Given the description of an element on the screen output the (x, y) to click on. 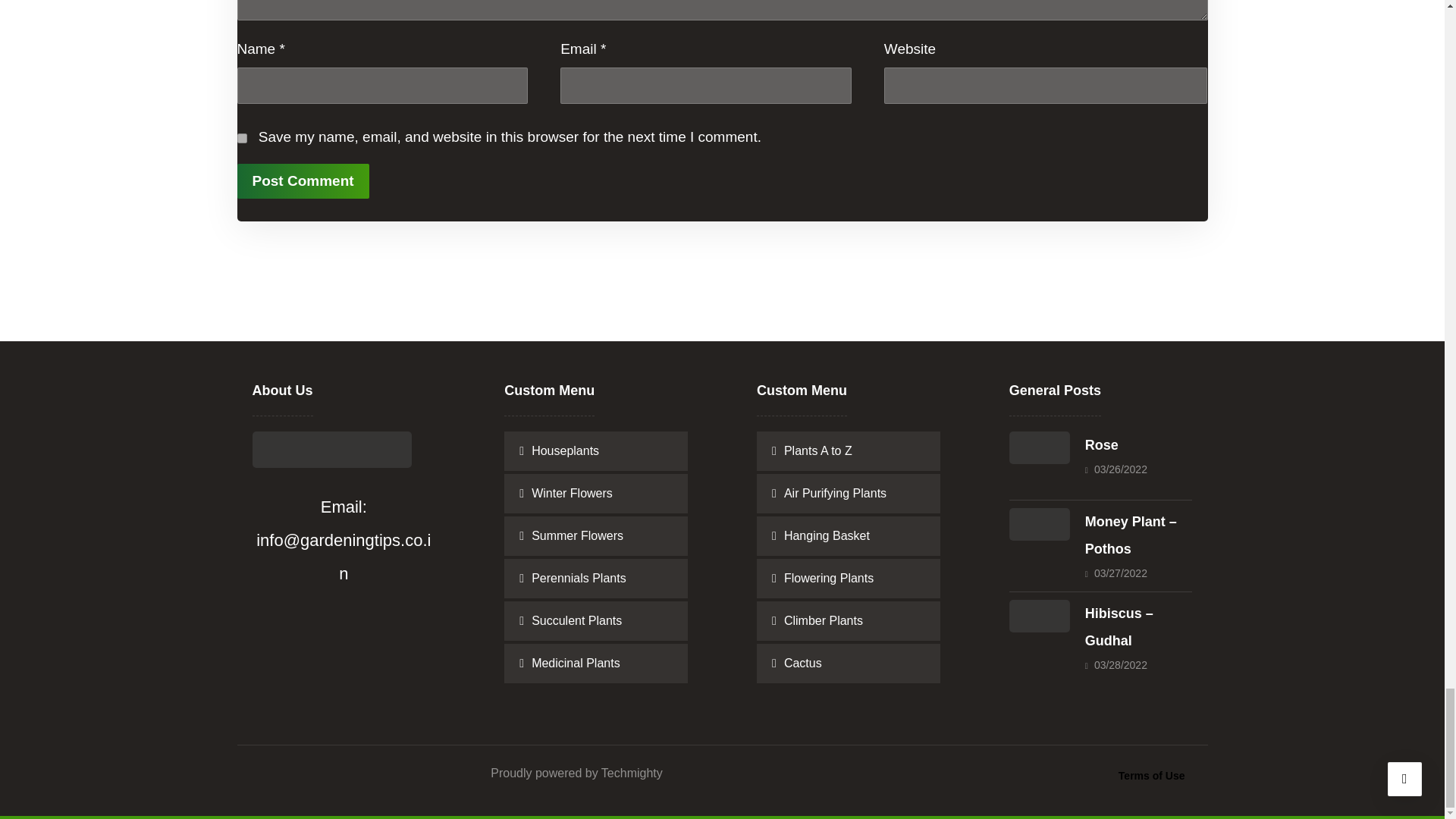
Rose (1039, 461)
Rose (1101, 444)
Post Comment (301, 181)
yes (240, 138)
